Given the description of an element on the screen output the (x, y) to click on. 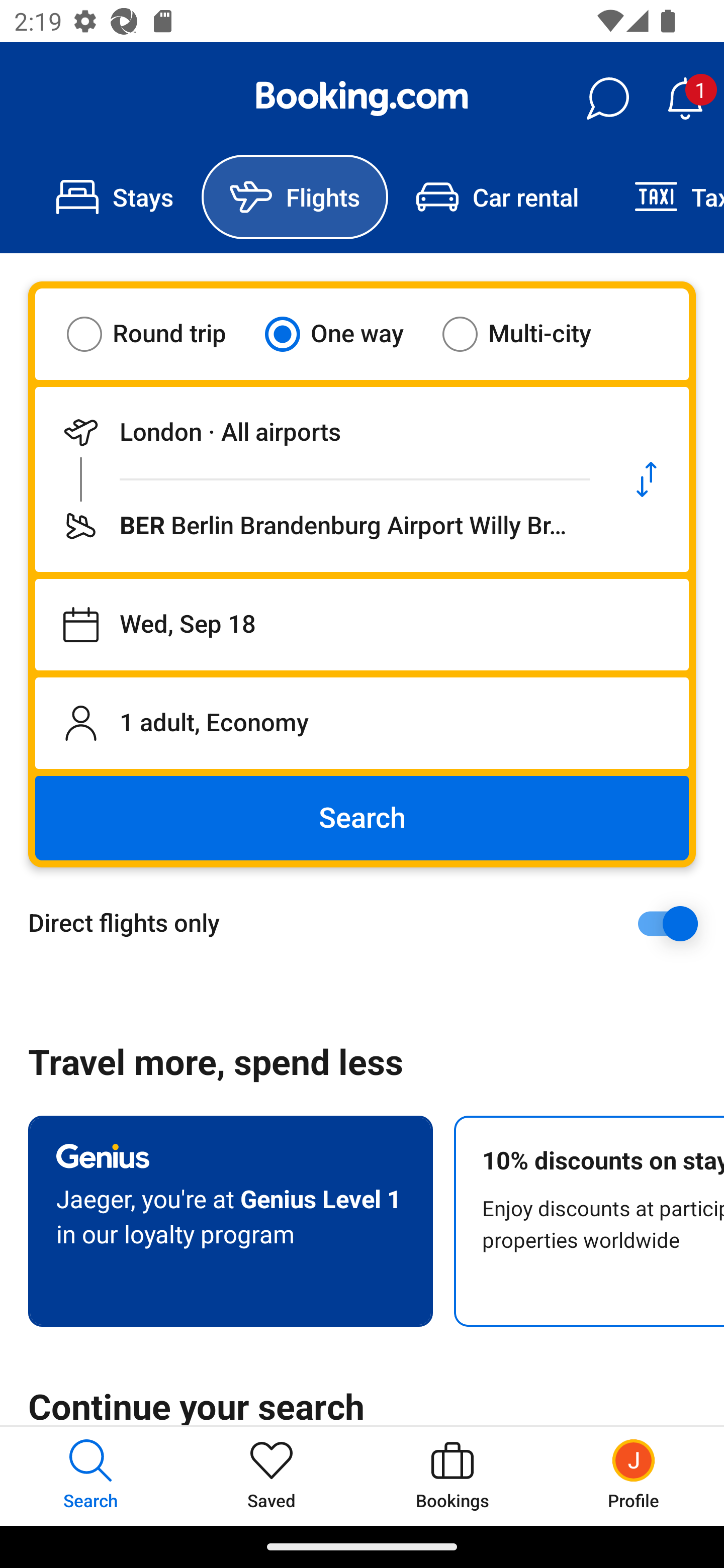
Messages (607, 98)
Notifications (685, 98)
Stays (114, 197)
Flights (294, 197)
Car rental (497, 197)
Taxi (665, 197)
Round trip (158, 333)
Multi-city (528, 333)
Departing from London · All airports (319, 432)
Swap departure location and destination (646, 479)
Departing on Wed, Sep 18 (361, 624)
1 adult, Economy (361, 722)
Search (361, 818)
Direct flights only (369, 923)
Saved (271, 1475)
Bookings (452, 1475)
Profile (633, 1475)
